Given the description of an element on the screen output the (x, y) to click on. 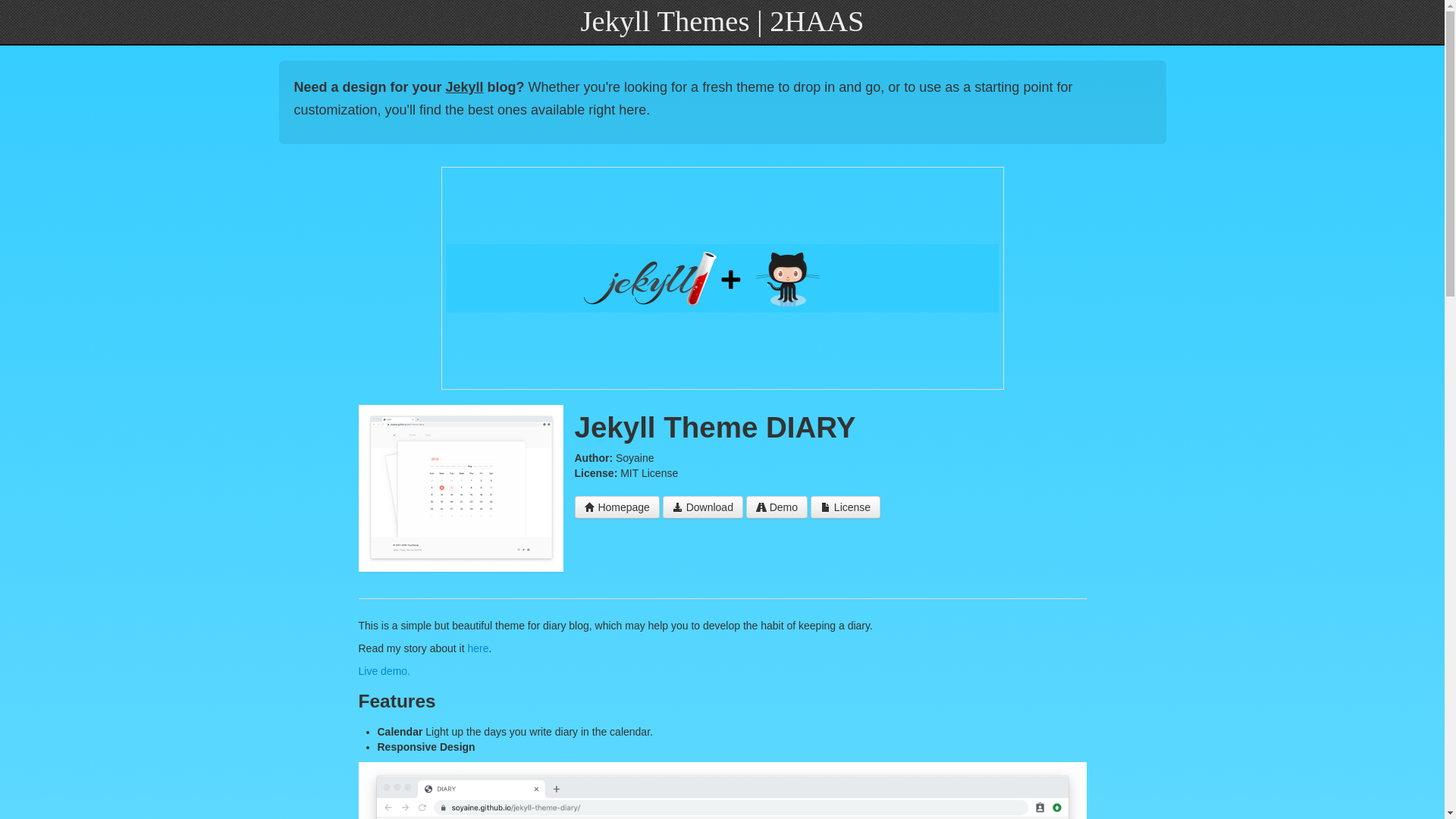
Live demo. (383, 671)
Homepage (617, 507)
here (477, 648)
Demo (776, 507)
Jekyll (464, 87)
Advertisement (721, 277)
License (845, 507)
Download (702, 507)
